Given the description of an element on the screen output the (x, y) to click on. 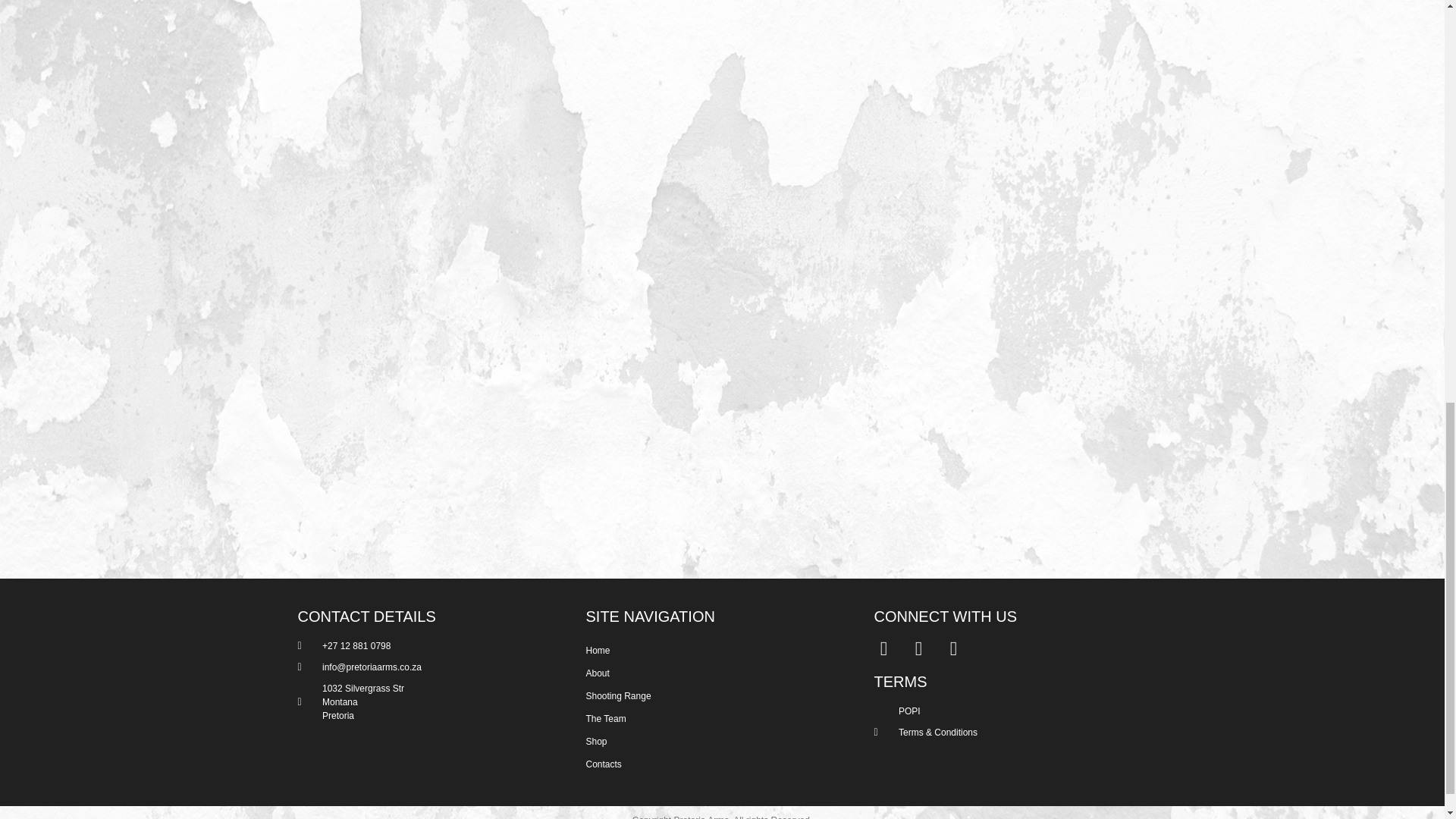
Home (714, 650)
Shooting Range (714, 695)
Shop (714, 741)
153 (992, 101)
The Team (714, 718)
Contacts (714, 763)
About (714, 672)
